Given the description of an element on the screen output the (x, y) to click on. 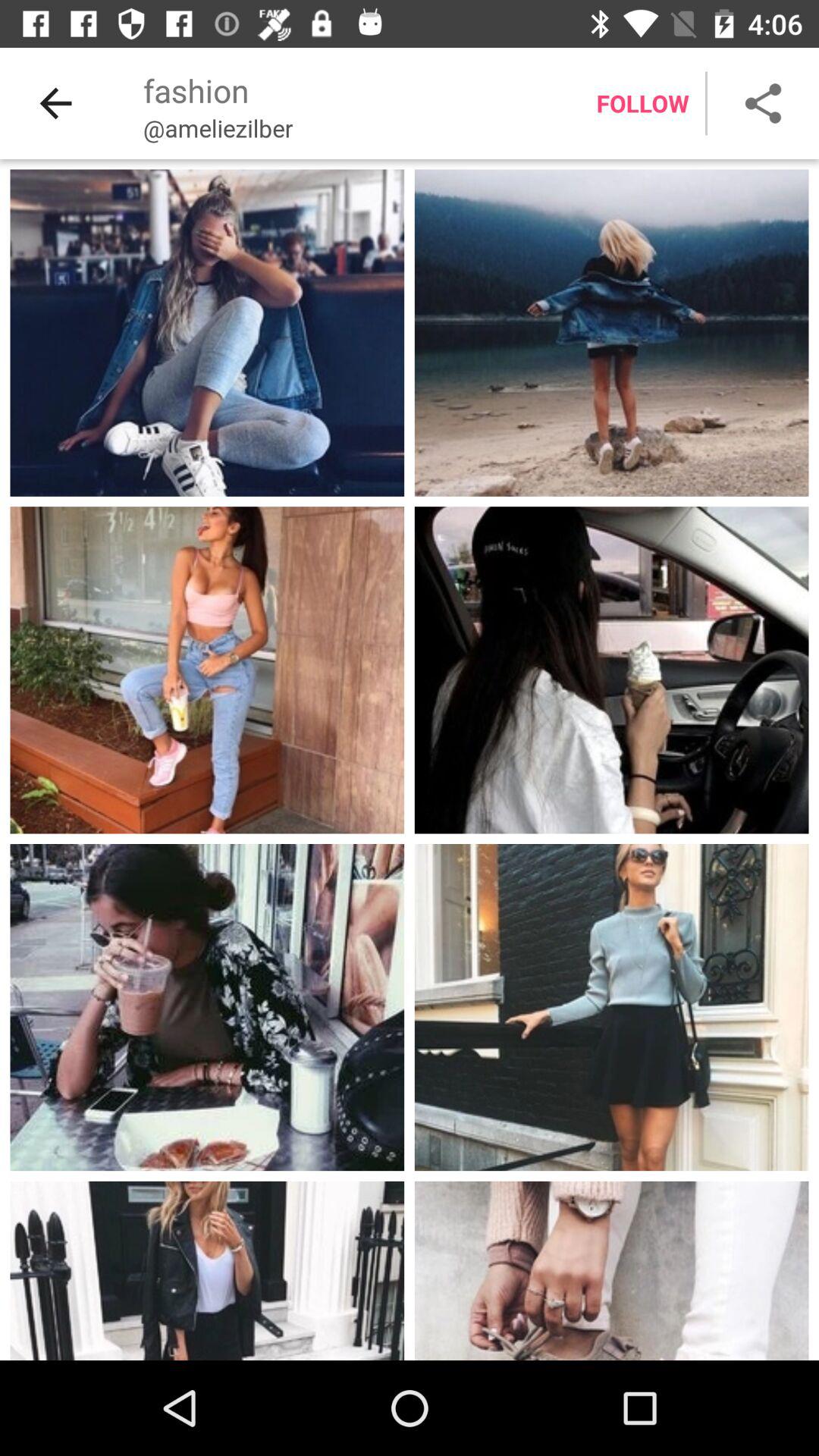
press item to the left of the fashion item (55, 103)
